Given the description of an element on the screen output the (x, y) to click on. 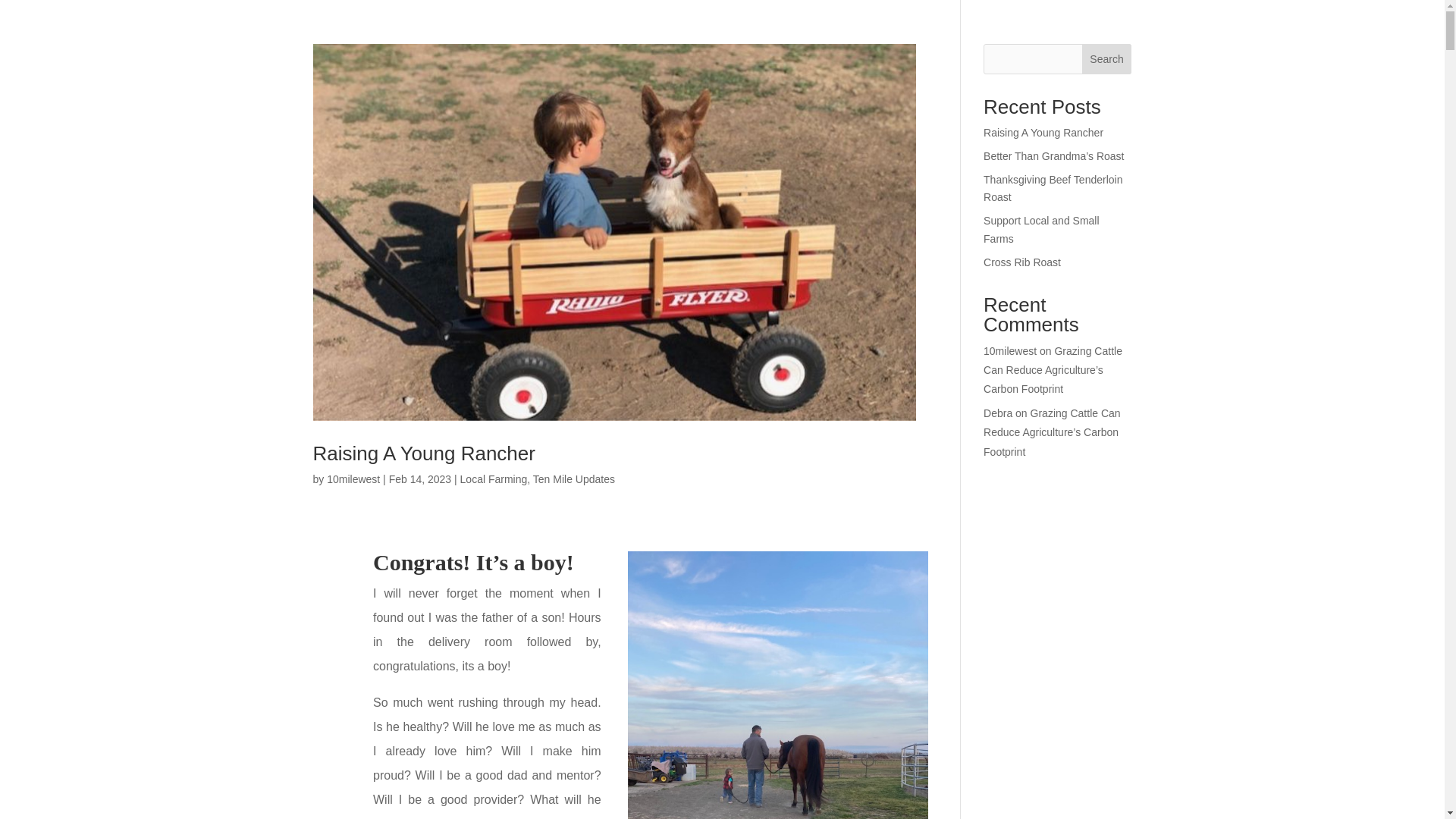
10milewest (353, 479)
Raising A Young Rancher (423, 453)
Posts by 10milewest (353, 479)
Adam and Wiley with Horse (777, 685)
